Given the description of an element on the screen output the (x, y) to click on. 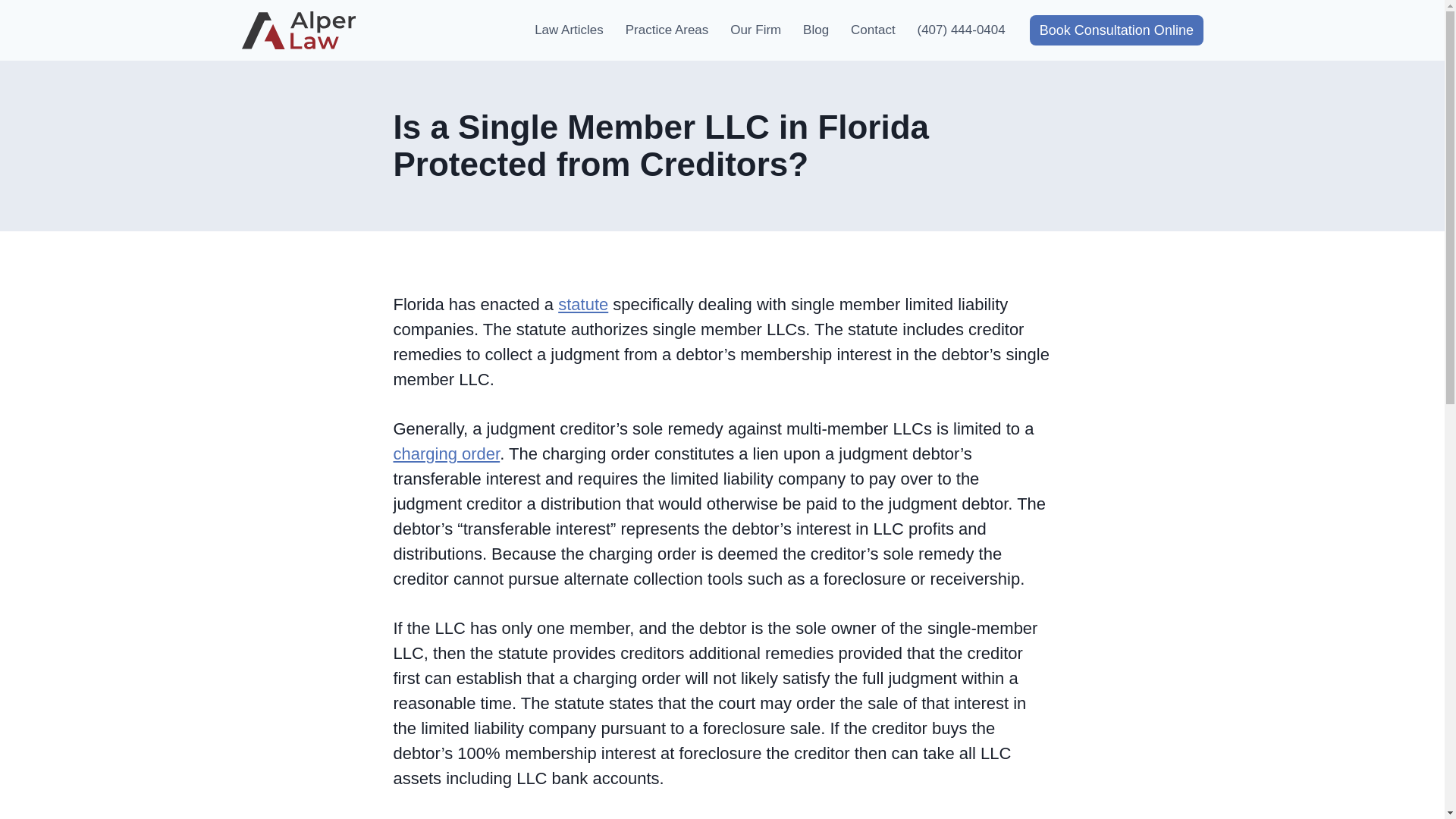
Book Consultation Online (1115, 30)
Our Firm (755, 30)
statute (582, 303)
charging order (446, 453)
Blog (816, 30)
Contact (872, 30)
Practice Areas (666, 30)
Law Articles (569, 30)
